Given the description of an element on the screen output the (x, y) to click on. 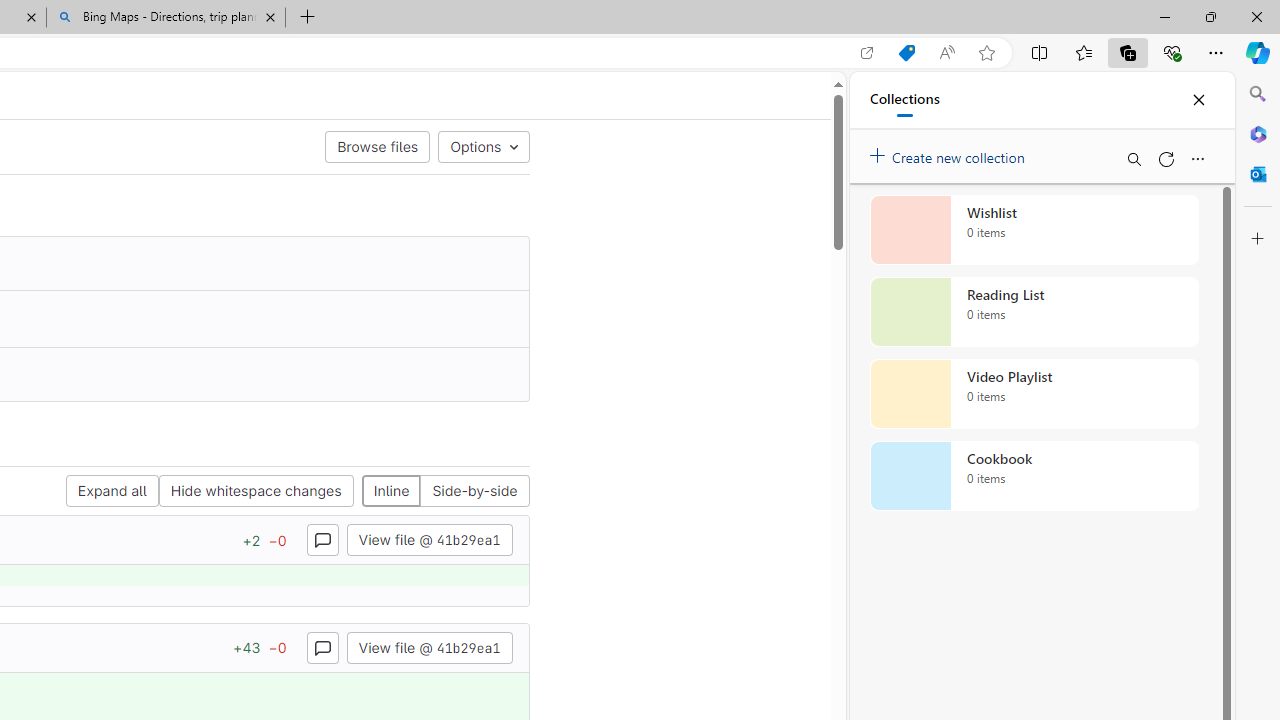
Side-by-side (474, 491)
Restore (1210, 16)
Class: s16 gl-icon gl-button-icon  (322, 647)
Copilot (Ctrl+Shift+.) (1258, 52)
Expand all (111, 491)
New Tab (308, 17)
Favorites (1083, 52)
Search (1258, 94)
Collections (904, 99)
Wishlist collection, 0 items (1034, 229)
Read aloud this page (Ctrl+Shift+U) (946, 53)
Inline (391, 491)
Customize (1258, 239)
Reading List collection, 0 items (1034, 312)
Toggle comments for this file (322, 646)
